Given the description of an element on the screen output the (x, y) to click on. 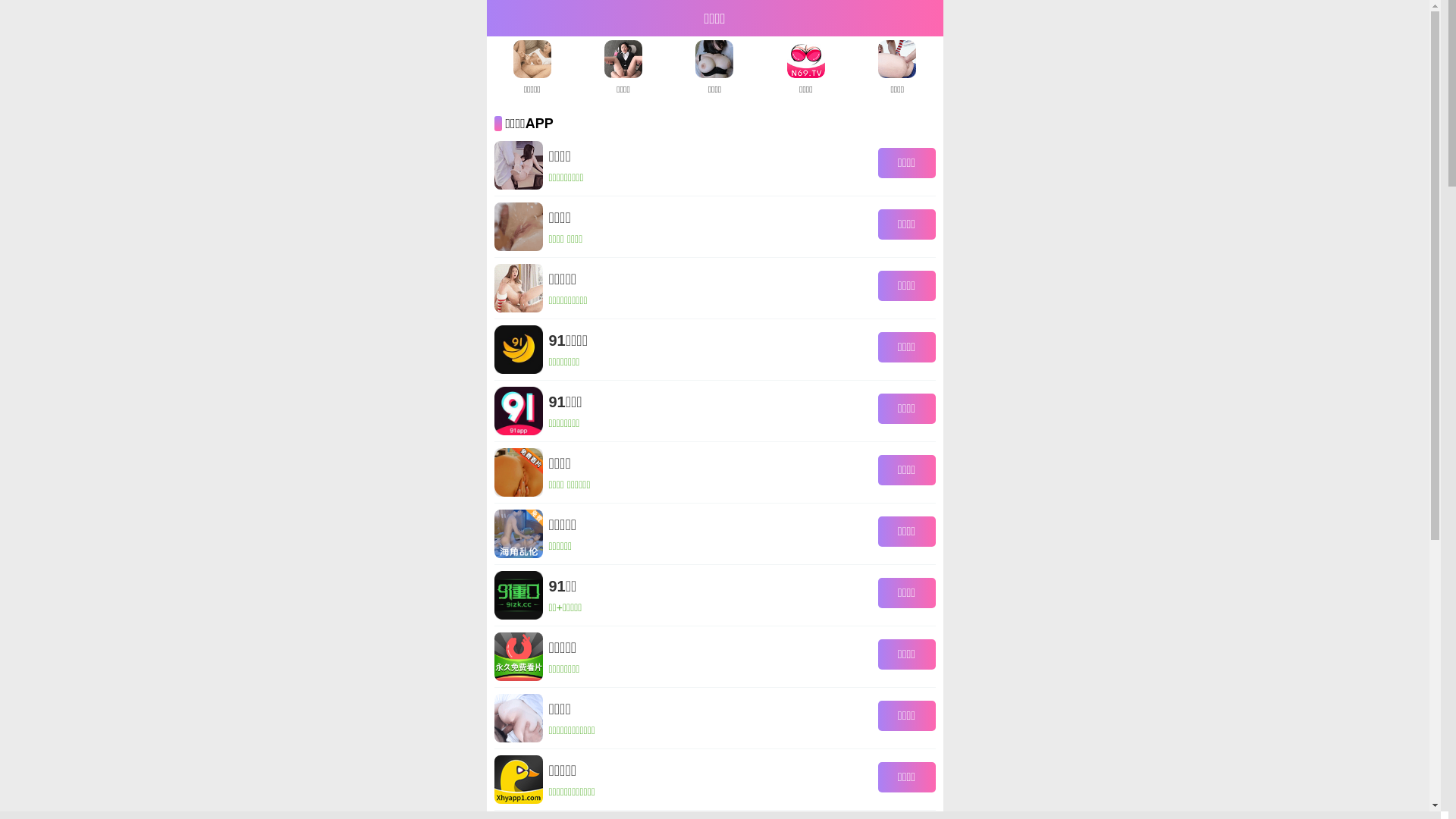
0792-8321553 Element type: text (1400, 383)
